Given the description of an element on the screen output the (x, y) to click on. 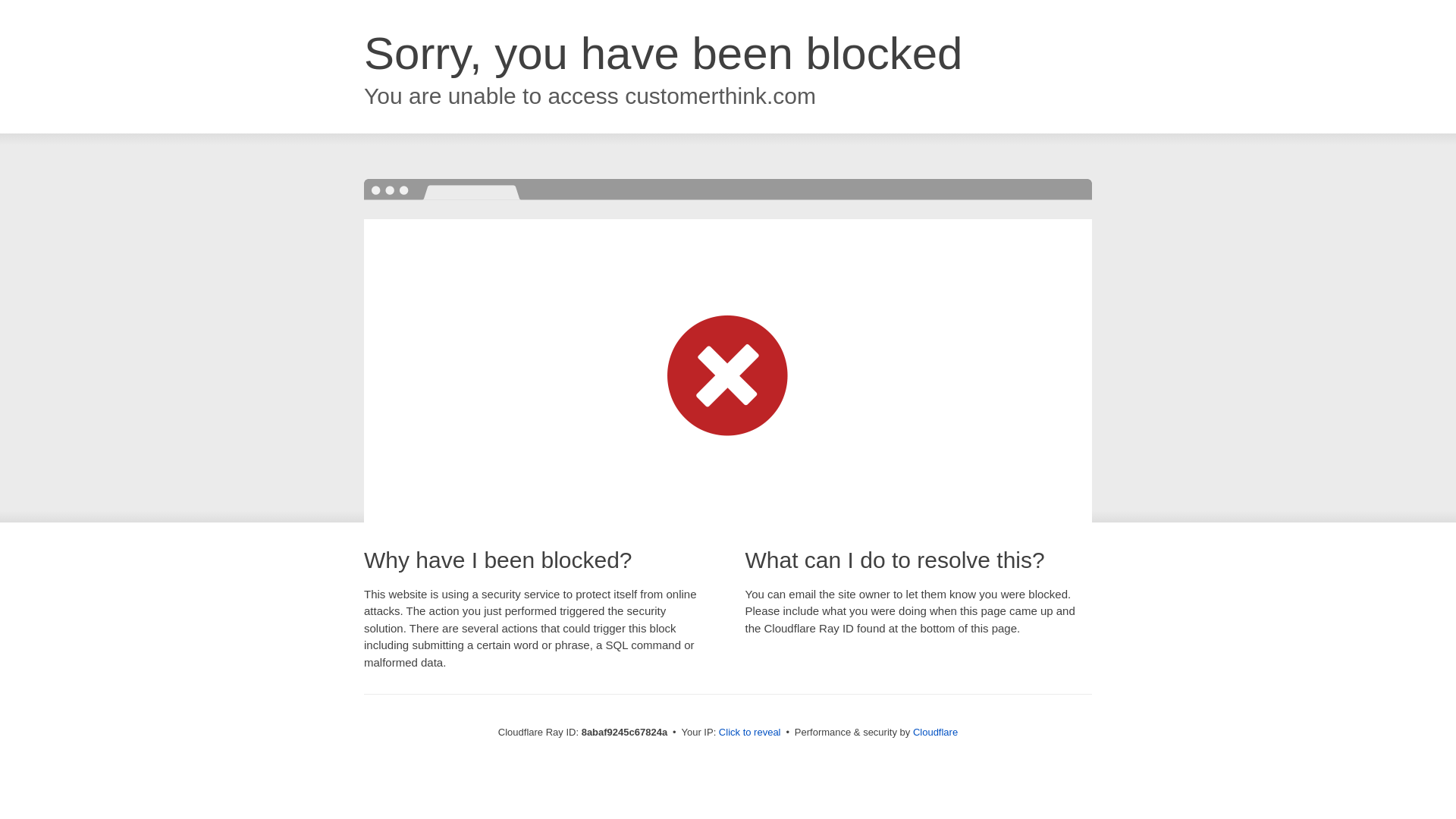
Click to reveal (749, 732)
Cloudflare (935, 731)
